Given the description of an element on the screen output the (x, y) to click on. 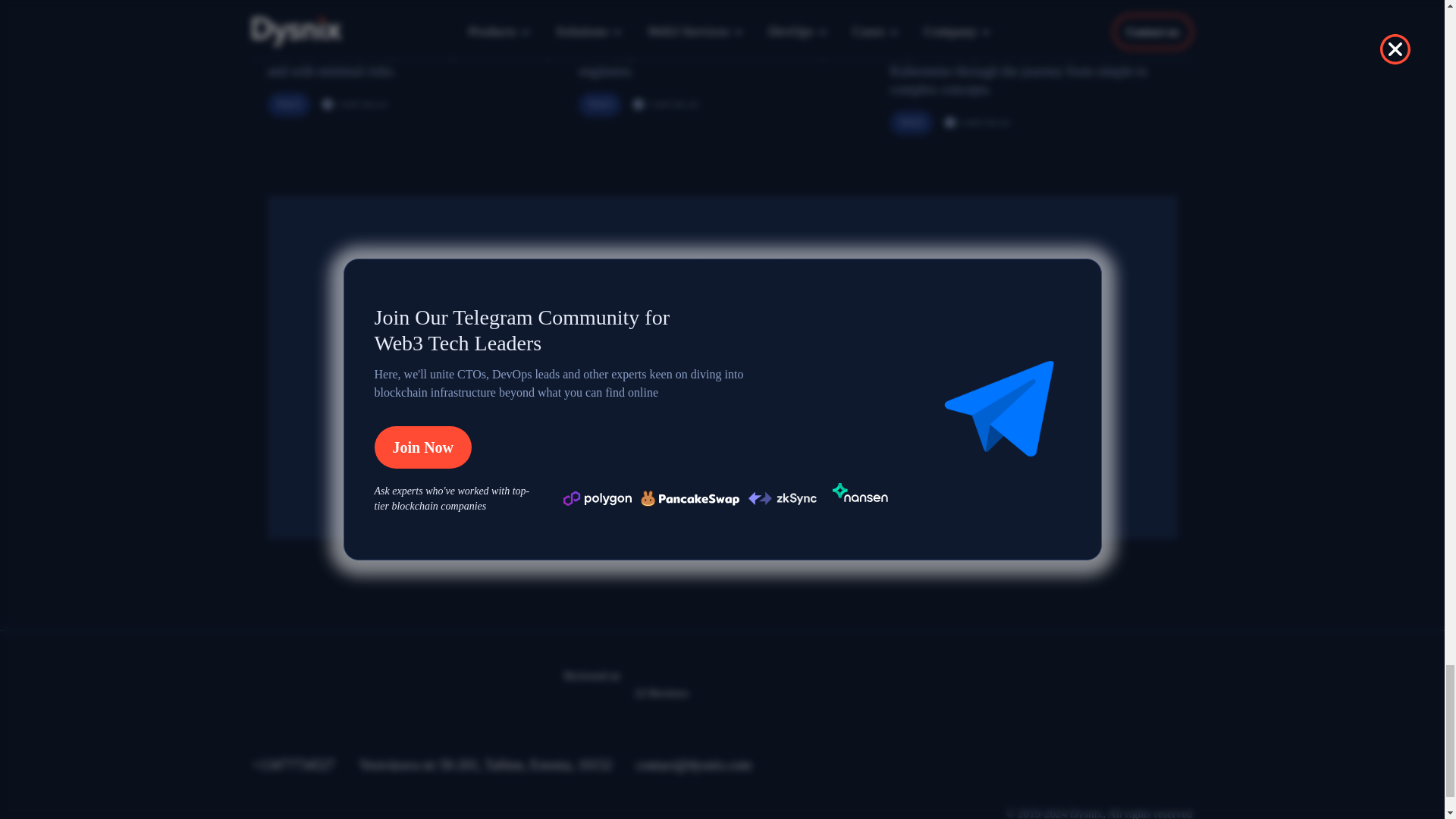
Subscribe (721, 453)
